Given the description of an element on the screen output the (x, y) to click on. 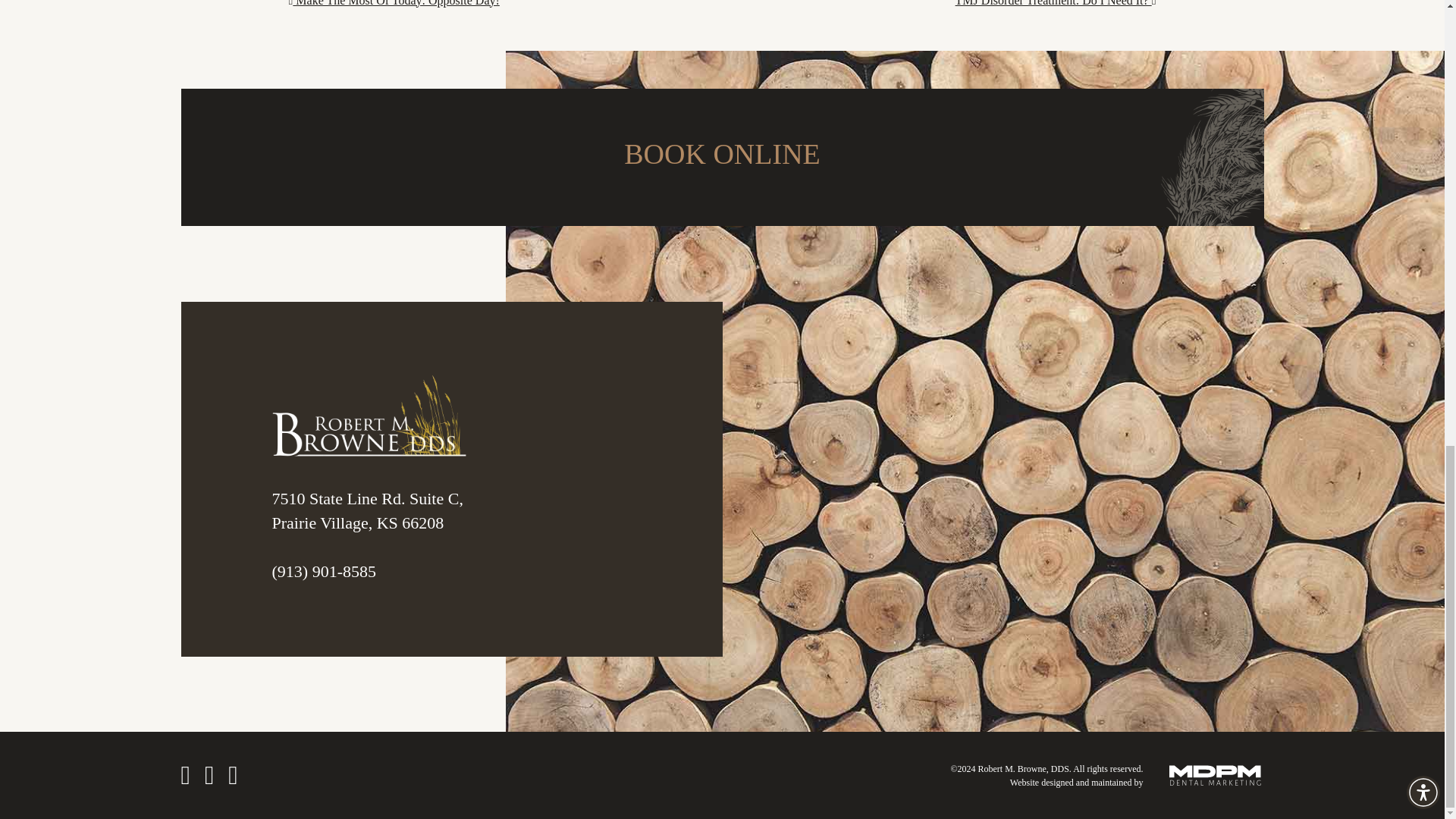
 Make The Most Of Today: Opposite Day! (393, 3)
TMJ Disorder Treatment: Do I Need It?  (1055, 3)
